Given the description of an element on the screen output the (x, y) to click on. 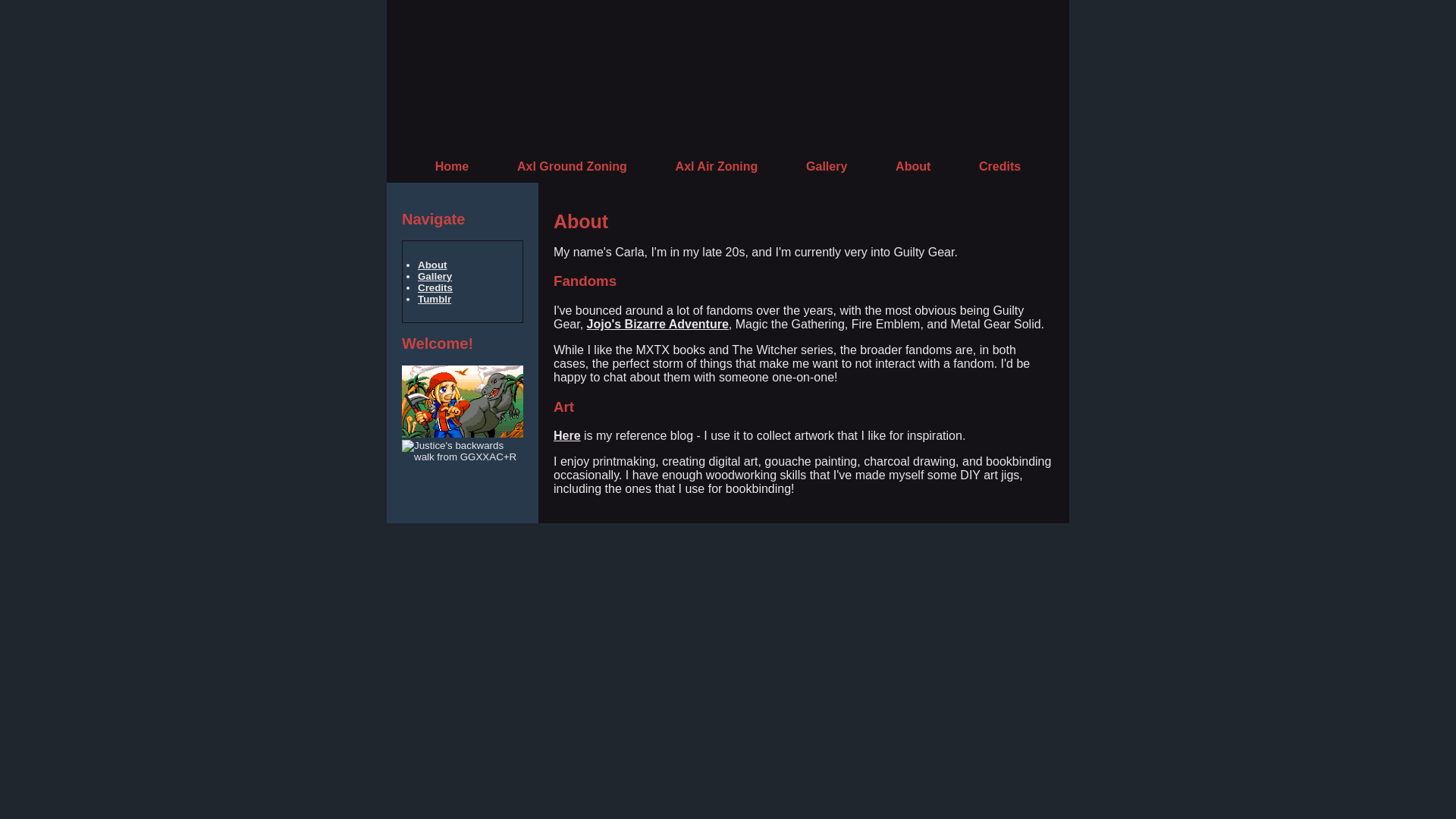
Jojo's Bizarre Adventure (657, 323)
About (912, 165)
Home (451, 165)
Gallery (434, 276)
Here (566, 435)
Credits (999, 165)
Credits (434, 287)
About (431, 265)
Axl Air Zoning (716, 165)
Gallery (826, 165)
Axl Ground Zoning (571, 165)
Tumblr (434, 298)
